Given the description of an element on the screen output the (x, y) to click on. 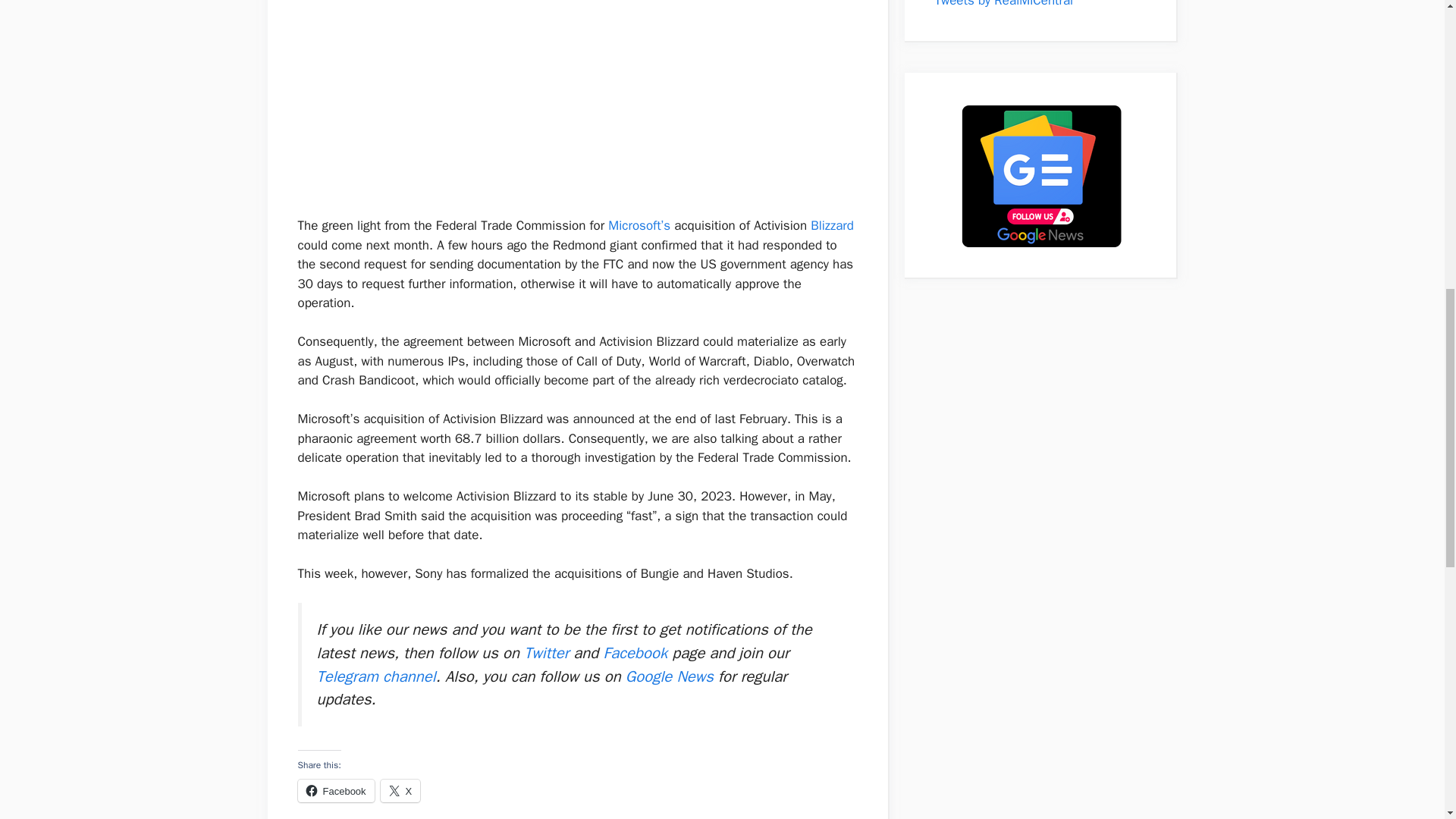
Click to share on Facebook (335, 790)
Advertisement (590, 95)
Click to share on X (400, 790)
Scroll back to top (1406, 720)
